Given the description of an element on the screen output the (x, y) to click on. 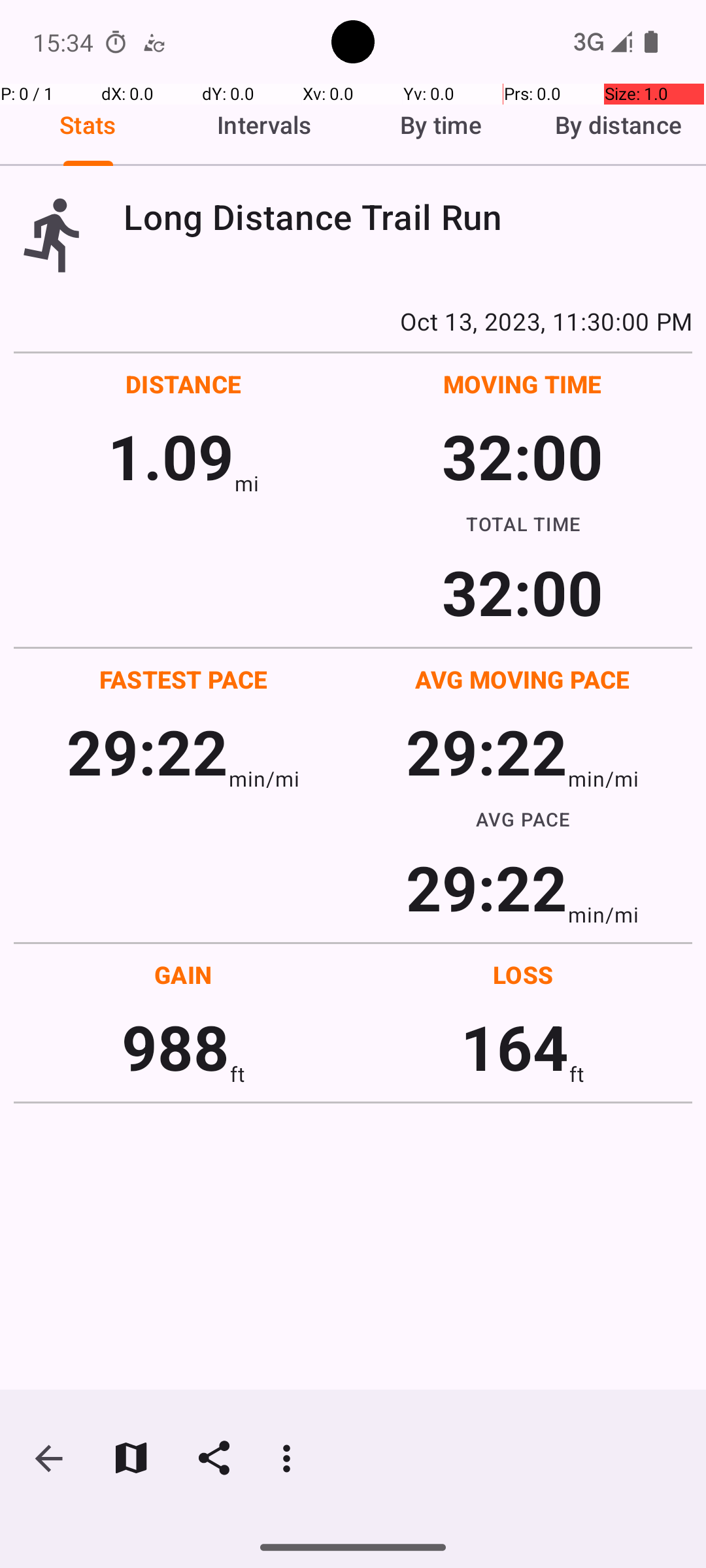
Long Distance Trail Run Element type: android.widget.TextView (407, 216)
Oct 13, 2023, 11:30:00 PM Element type: android.widget.TextView (352, 320)
1.09 Element type: android.widget.TextView (170, 455)
32:00 Element type: android.widget.TextView (522, 455)
29:22 Element type: android.widget.TextView (147, 750)
988 Element type: android.widget.TextView (175, 1045)
164 Element type: android.widget.TextView (514, 1045)
